Given the description of an element on the screen output the (x, y) to click on. 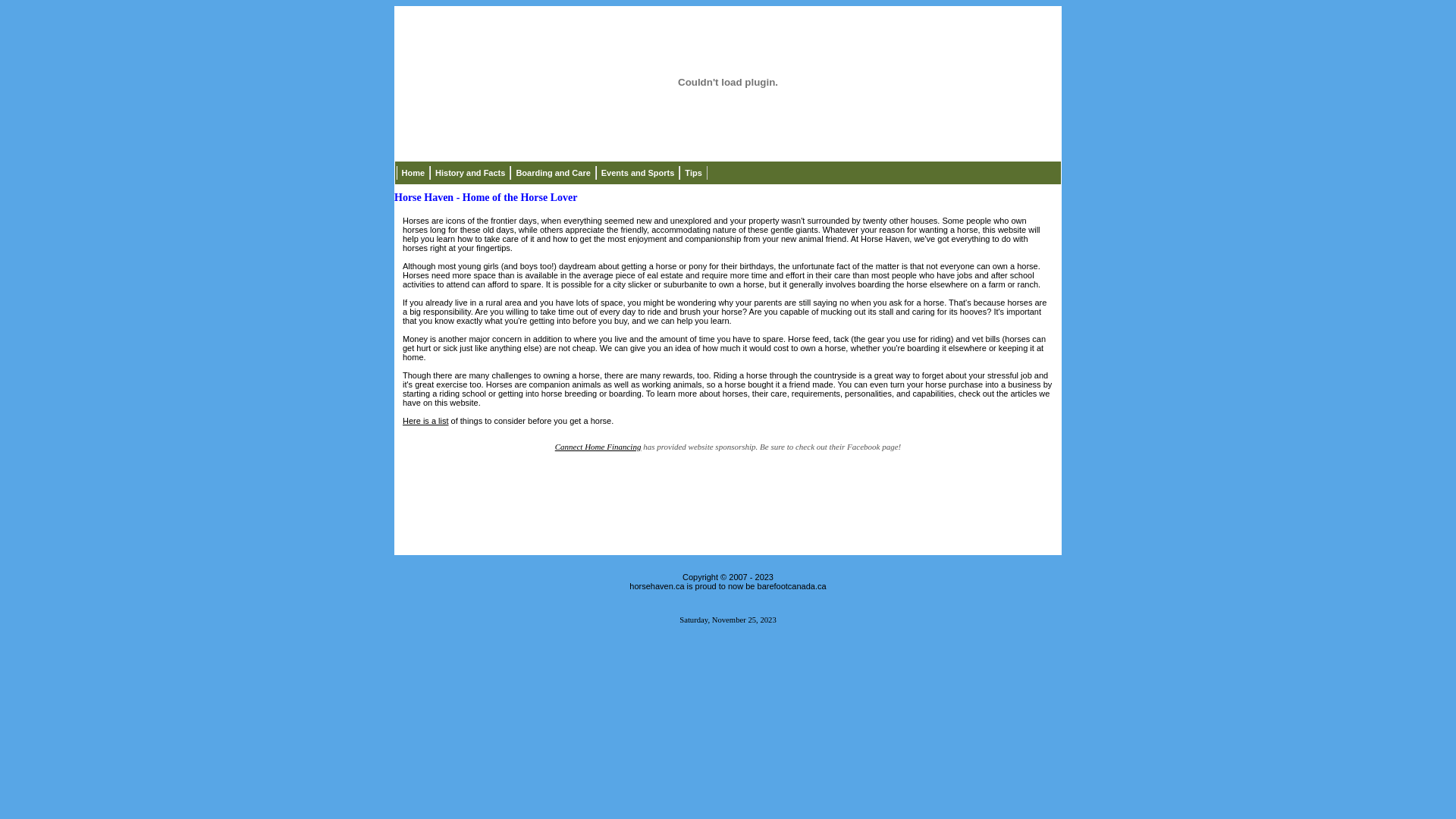
Boarding and Care Element type: text (552, 172)
History and Facts Element type: text (469, 172)
Here is a list Element type: text (425, 420)
Tips Element type: text (692, 172)
Events and Sports Element type: text (638, 172)
Cannect Home Financing Element type: text (598, 446)
Home Element type: text (412, 172)
